Given the description of an element on the screen output the (x, y) to click on. 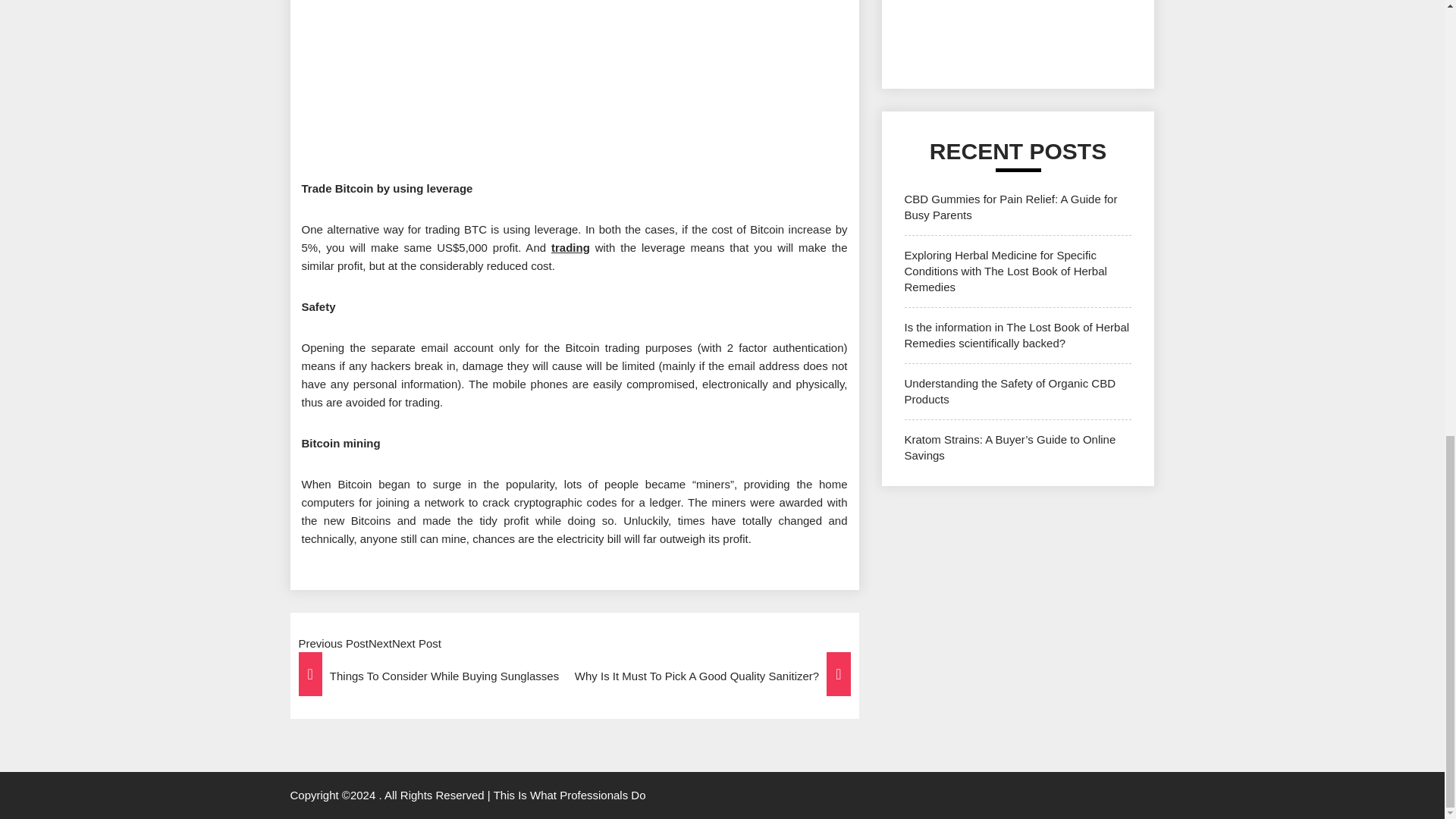
CBD Gummies for Pain Relief: A Guide for Busy Parents (1010, 206)
Understanding the Safety of Organic CBD Products (1009, 390)
trading (570, 246)
